Given the description of an element on the screen output the (x, y) to click on. 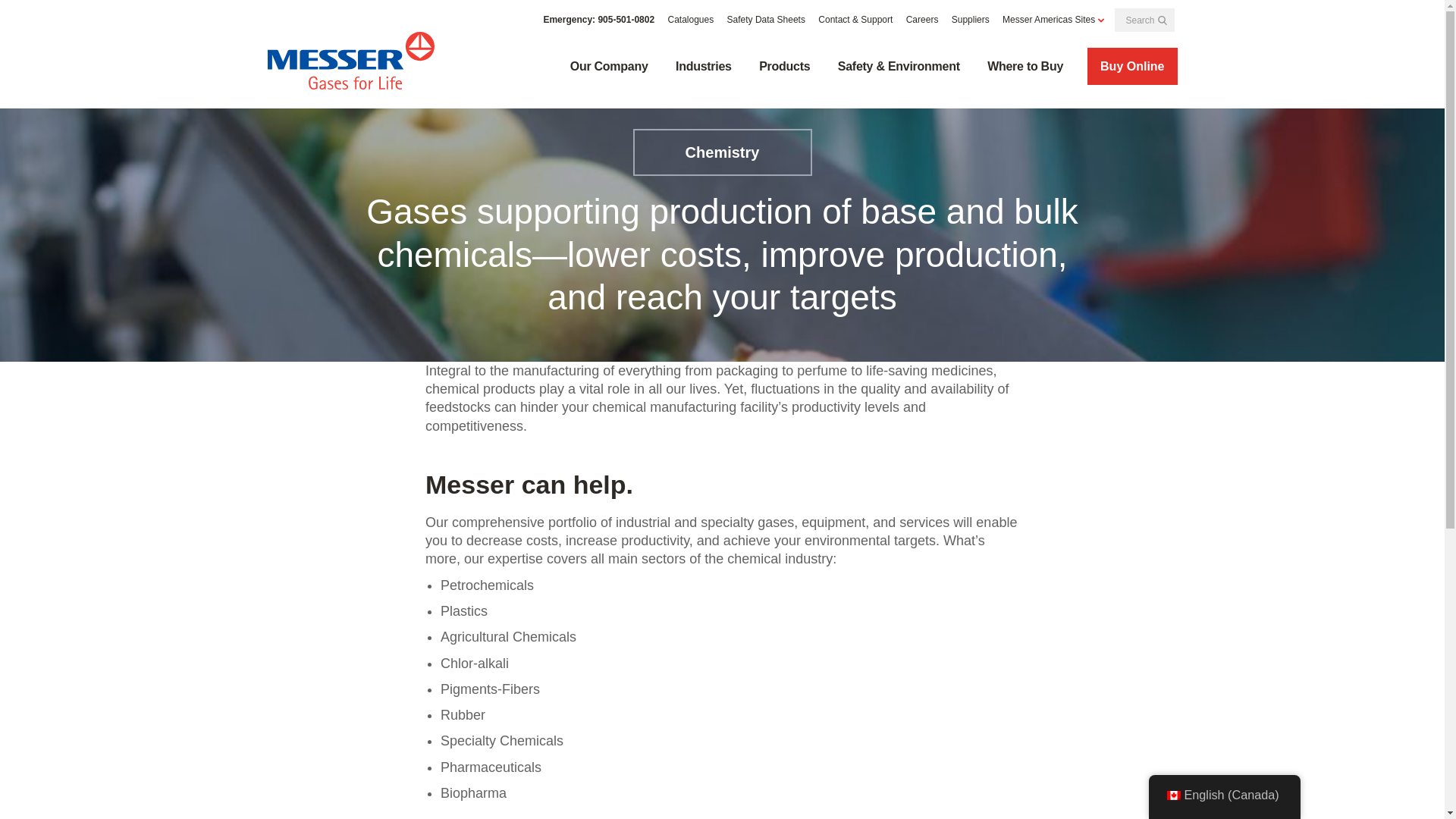
Suppliers (971, 19)
Safety Data Sheets (765, 19)
Search (1161, 20)
Catalogues (689, 19)
905-501-0802 (624, 19)
Search (1161, 20)
Messer Americas Sites (1053, 19)
Our Company (608, 66)
Search (1161, 20)
Industries (703, 66)
